Given the description of an element on the screen output the (x, y) to click on. 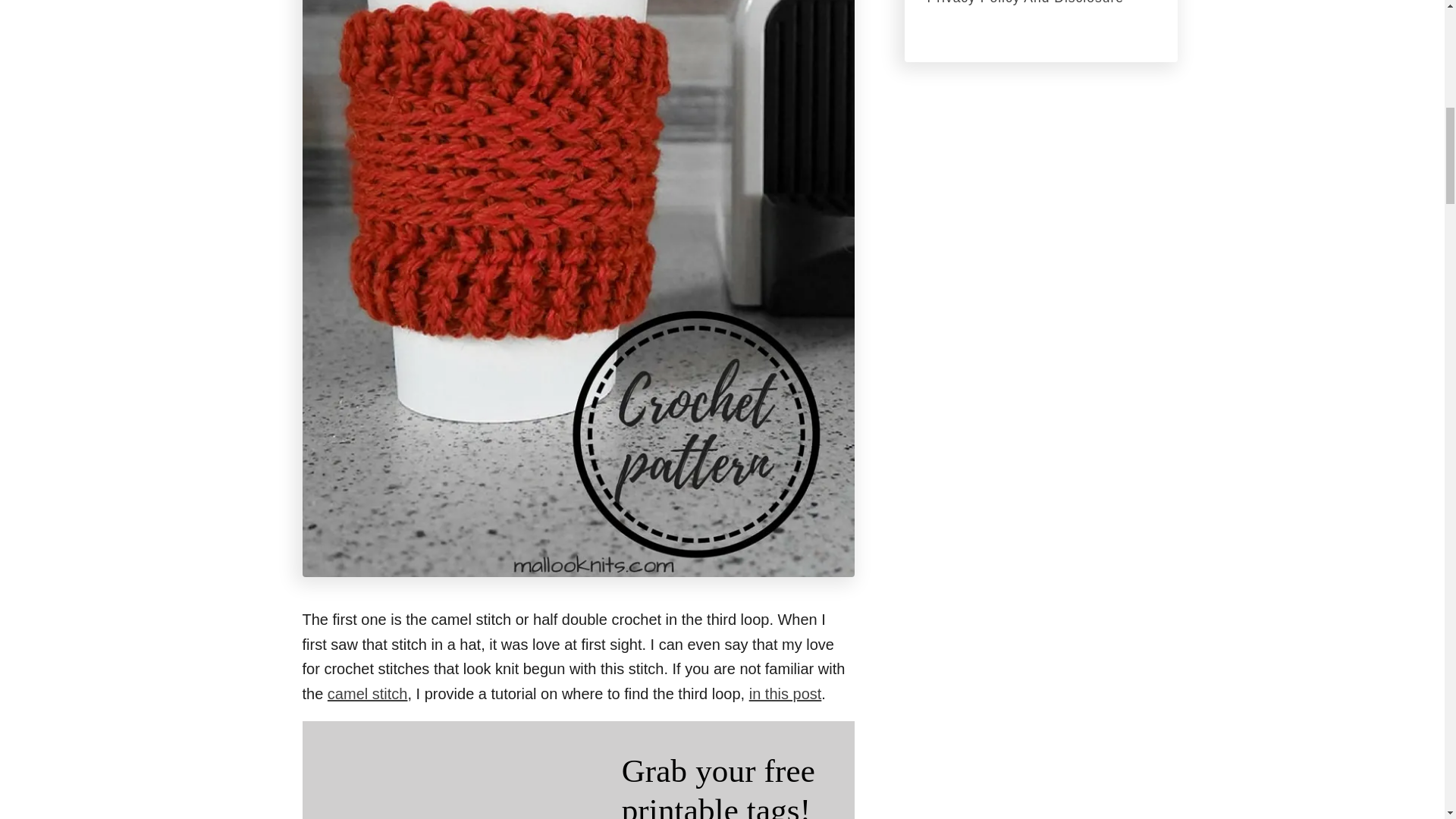
camel stitch (367, 693)
in this post (785, 693)
Privacy Policy And Disclosure (1040, 3)
